Given the description of an element on the screen output the (x, y) to click on. 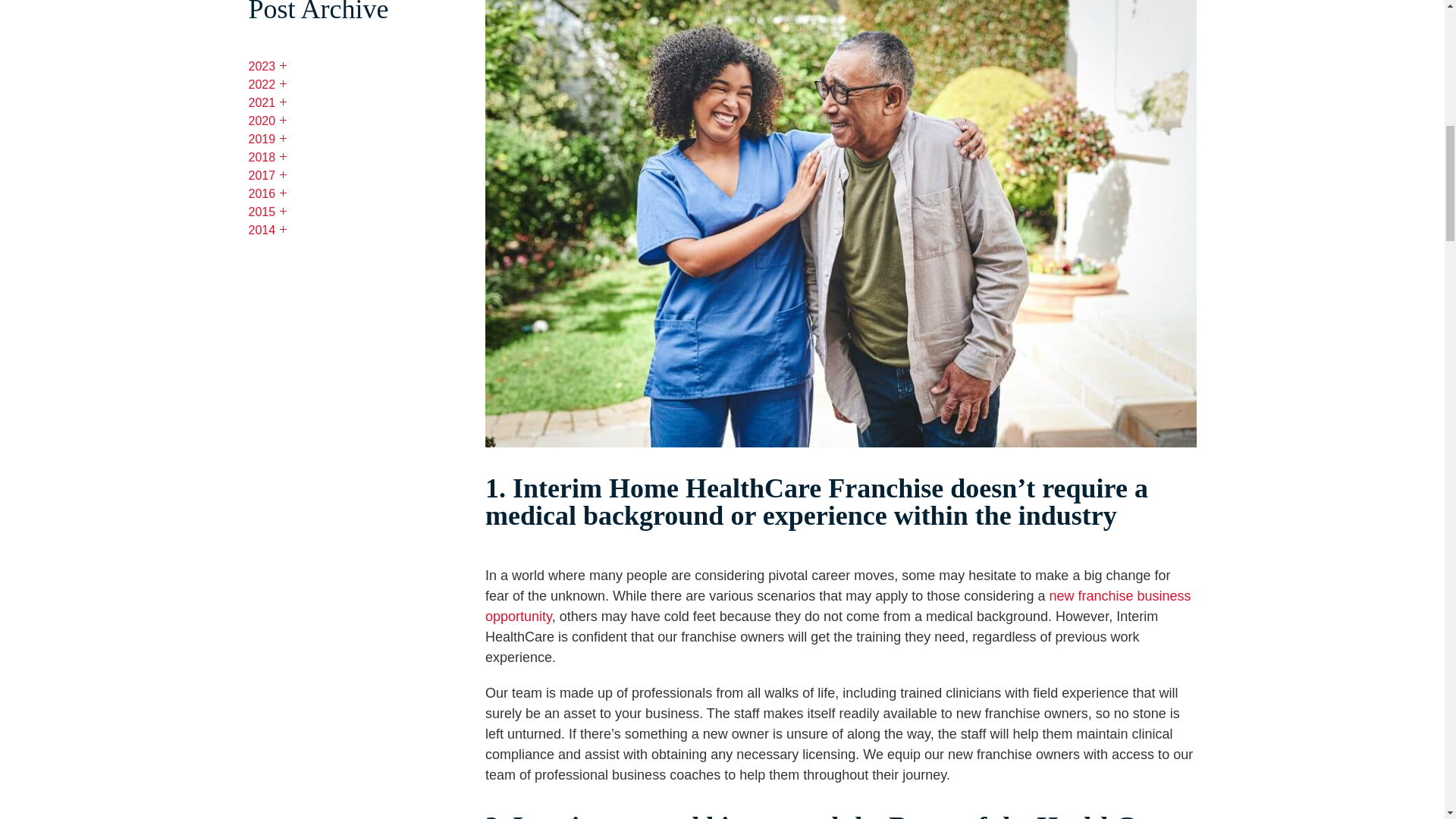
2023 (267, 66)
new franchise business opportunity (837, 606)
